Given the description of an element on the screen output the (x, y) to click on. 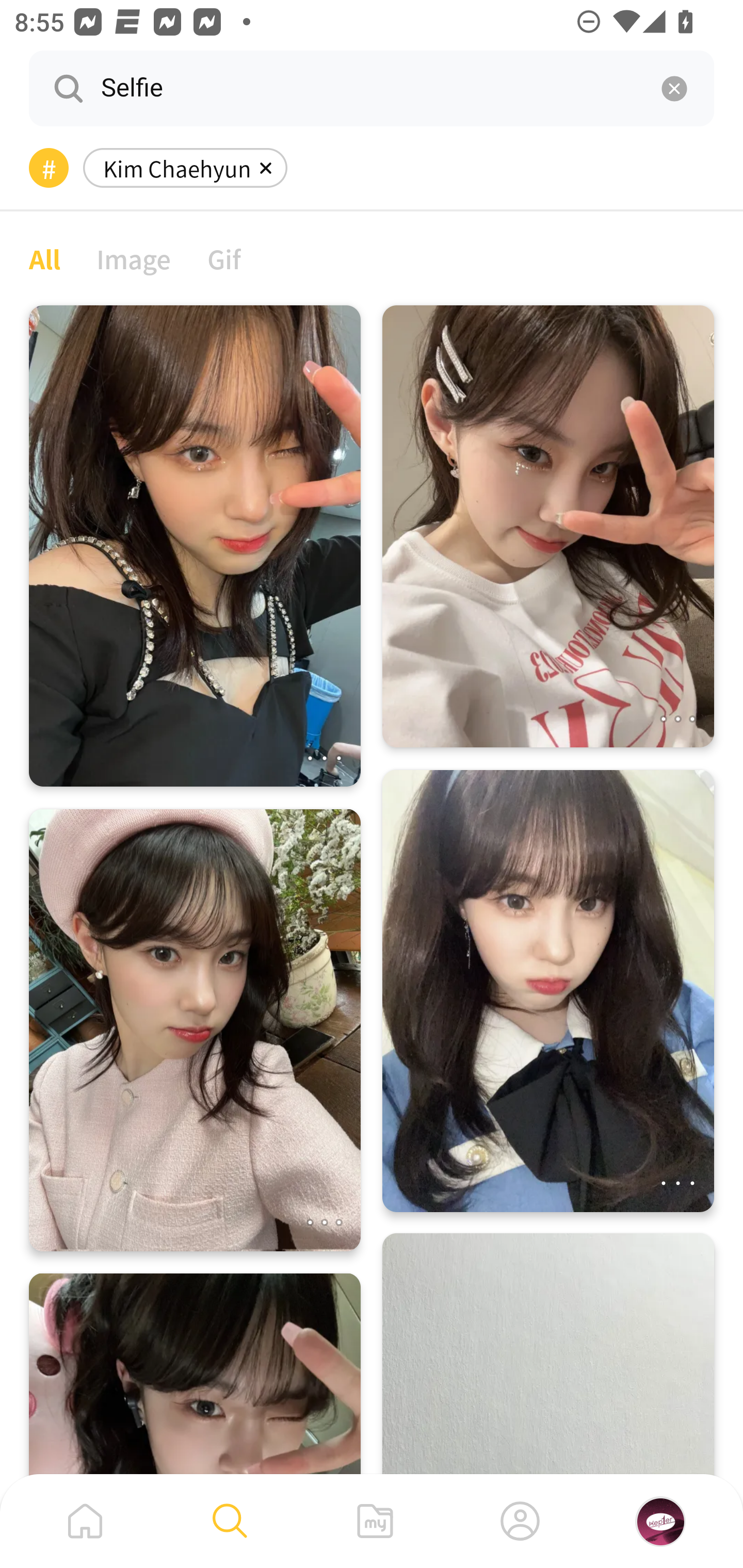
All (44, 257)
Image (133, 257)
Gif (223, 257)
